Given the description of an element on the screen output the (x, y) to click on. 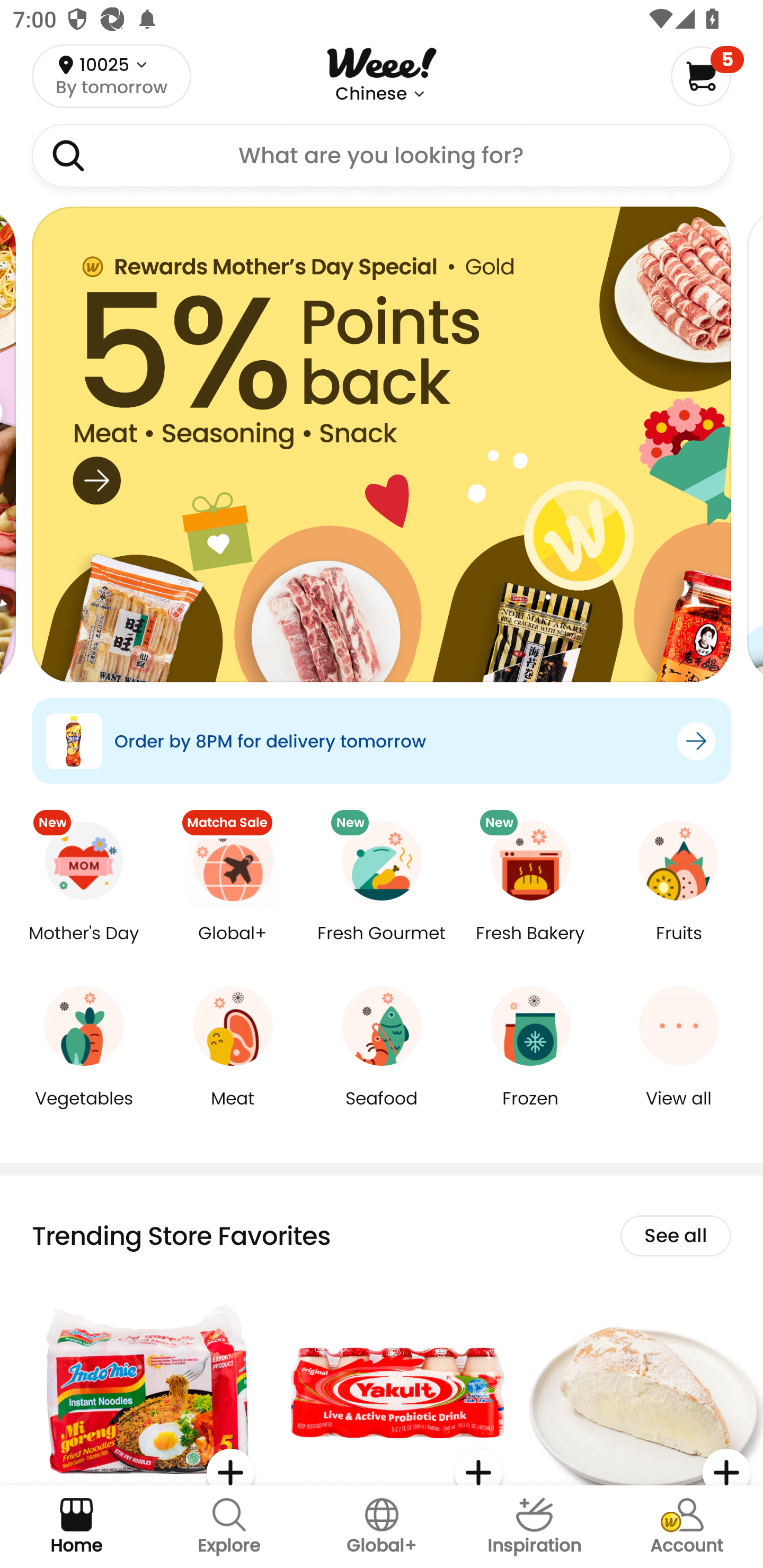
10025 By tomorrow (111, 75)
5 (706, 75)
Chinese (370, 93)
What are you looking for? (381, 155)
Order by 8PM for delivery tomorrow (381, 740)
Mother's Day (83, 946)
Global+ (232, 946)
Fresh Gourmet (381, 946)
Fresh Bakery (530, 946)
Fruits (678, 946)
Vegetables (83, 1111)
Meat (232, 1111)
Seafood (381, 1111)
Frozen (530, 1111)
View all (678, 1111)
Home (76, 1526)
Explore (228, 1526)
Global+ (381, 1526)
Inspiration (533, 1526)
Account (686, 1526)
